Given the description of an element on the screen output the (x, y) to click on. 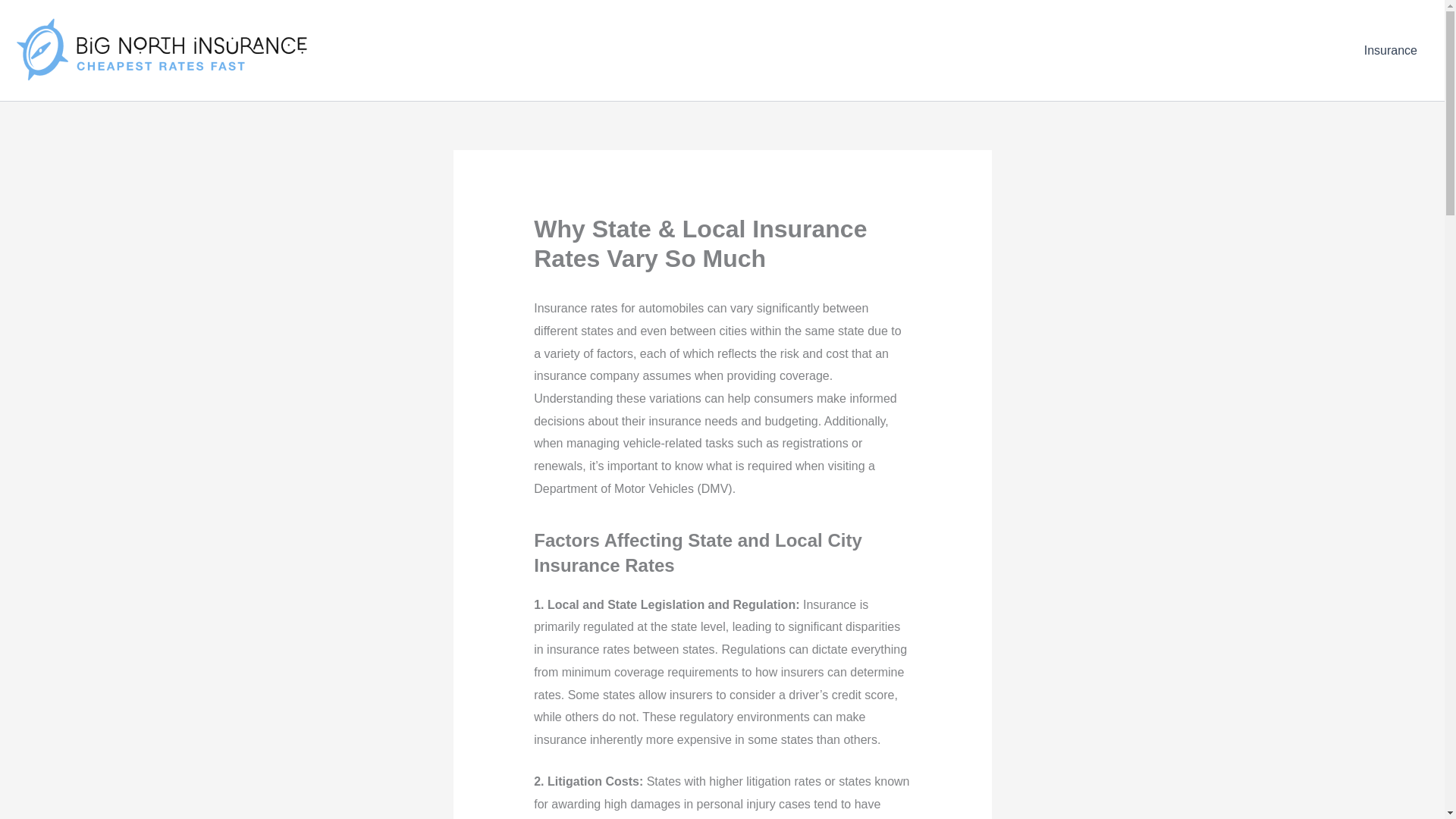
Big North Insurance (344, 49)
Insurance (1390, 49)
